Given the description of an element on the screen output the (x, y) to click on. 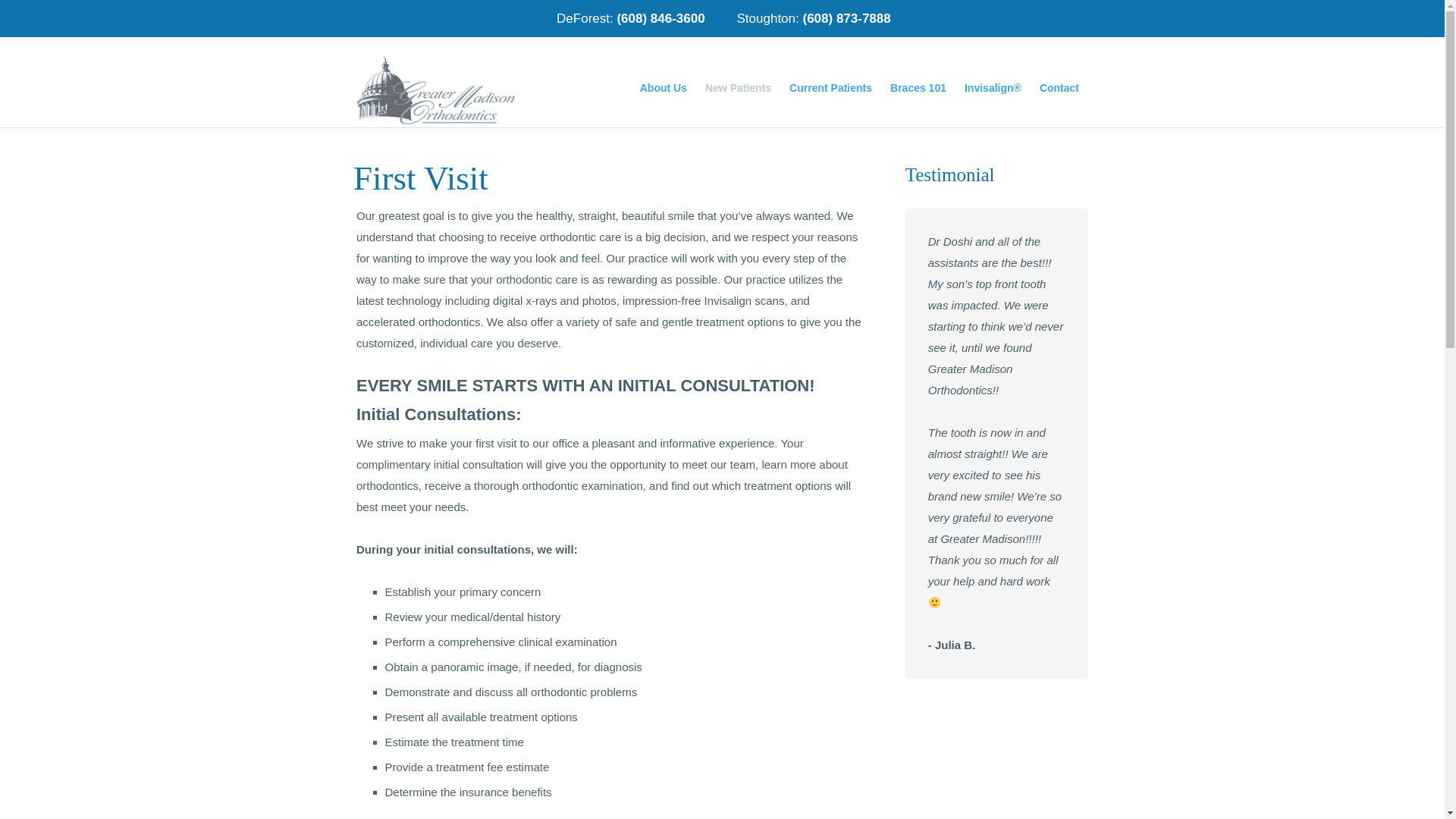
New Patients (737, 87)
Braces 101 (917, 87)
About Us (662, 87)
Current Patients (830, 87)
Contact (1058, 87)
